Given the description of an element on the screen output the (x, y) to click on. 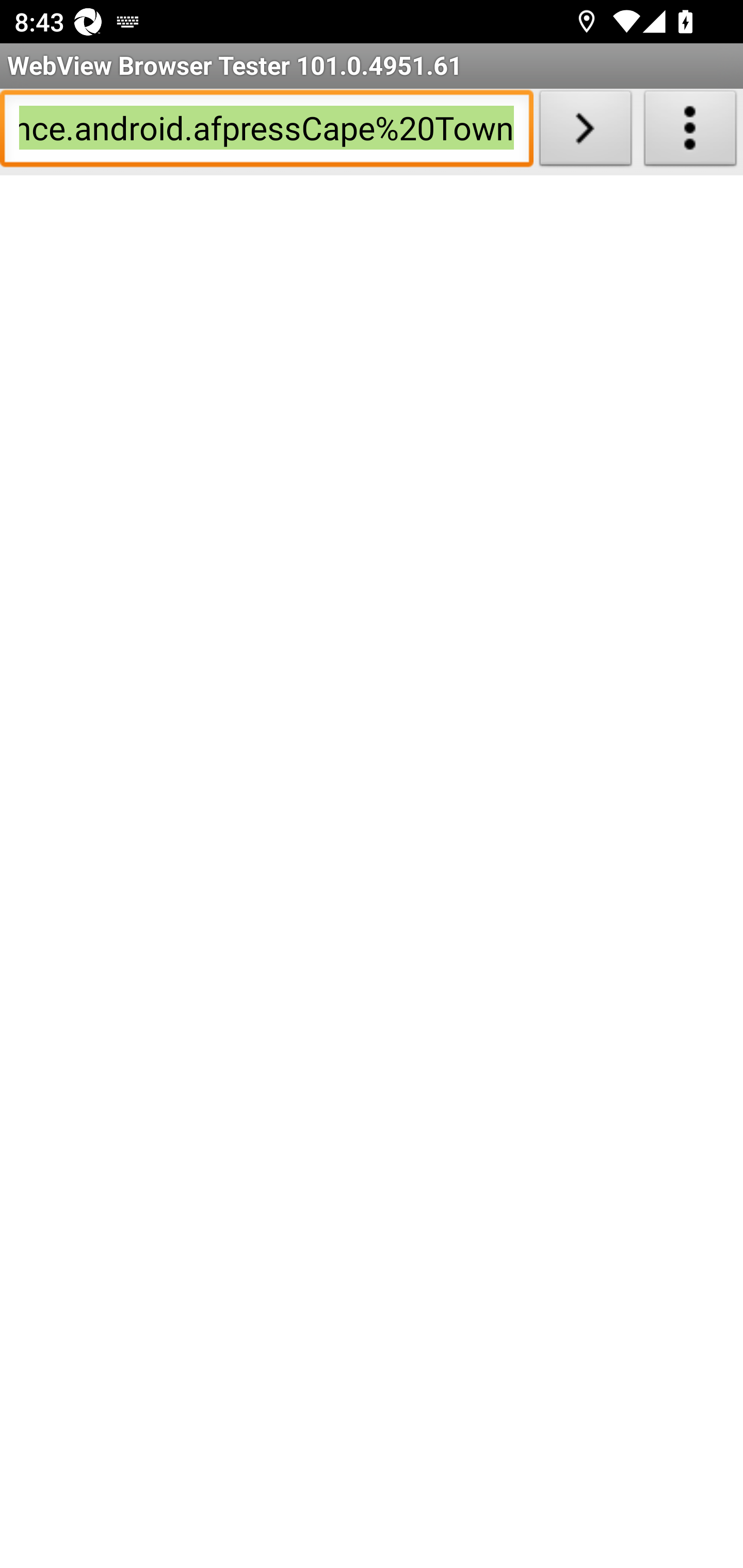
Load URL (585, 132)
About WebView (690, 132)
